Given the description of an element on the screen output the (x, y) to click on. 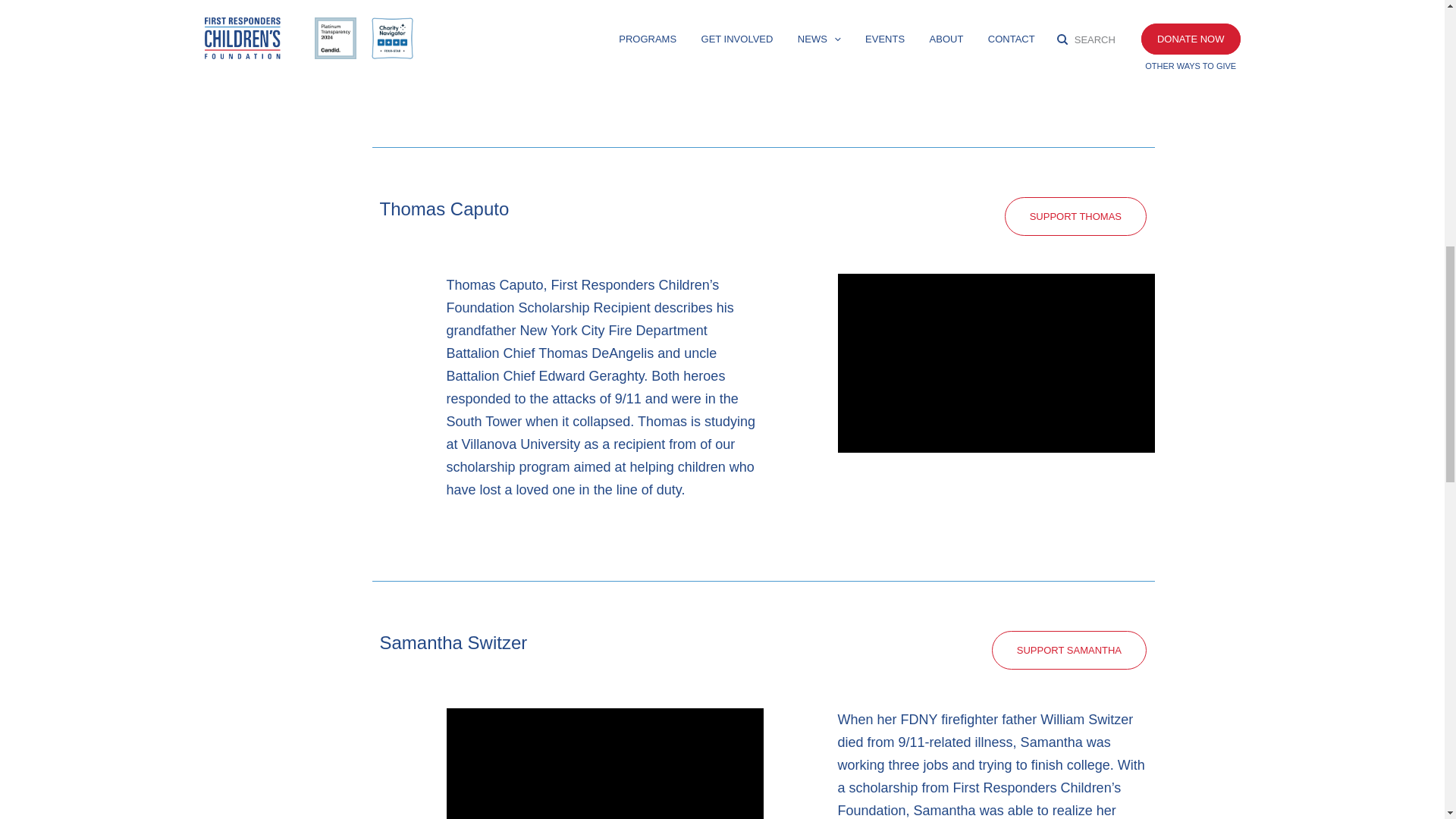
vimeo Video Player (603, 763)
vimeo Video Player (995, 362)
